Given the description of an element on the screen output the (x, y) to click on. 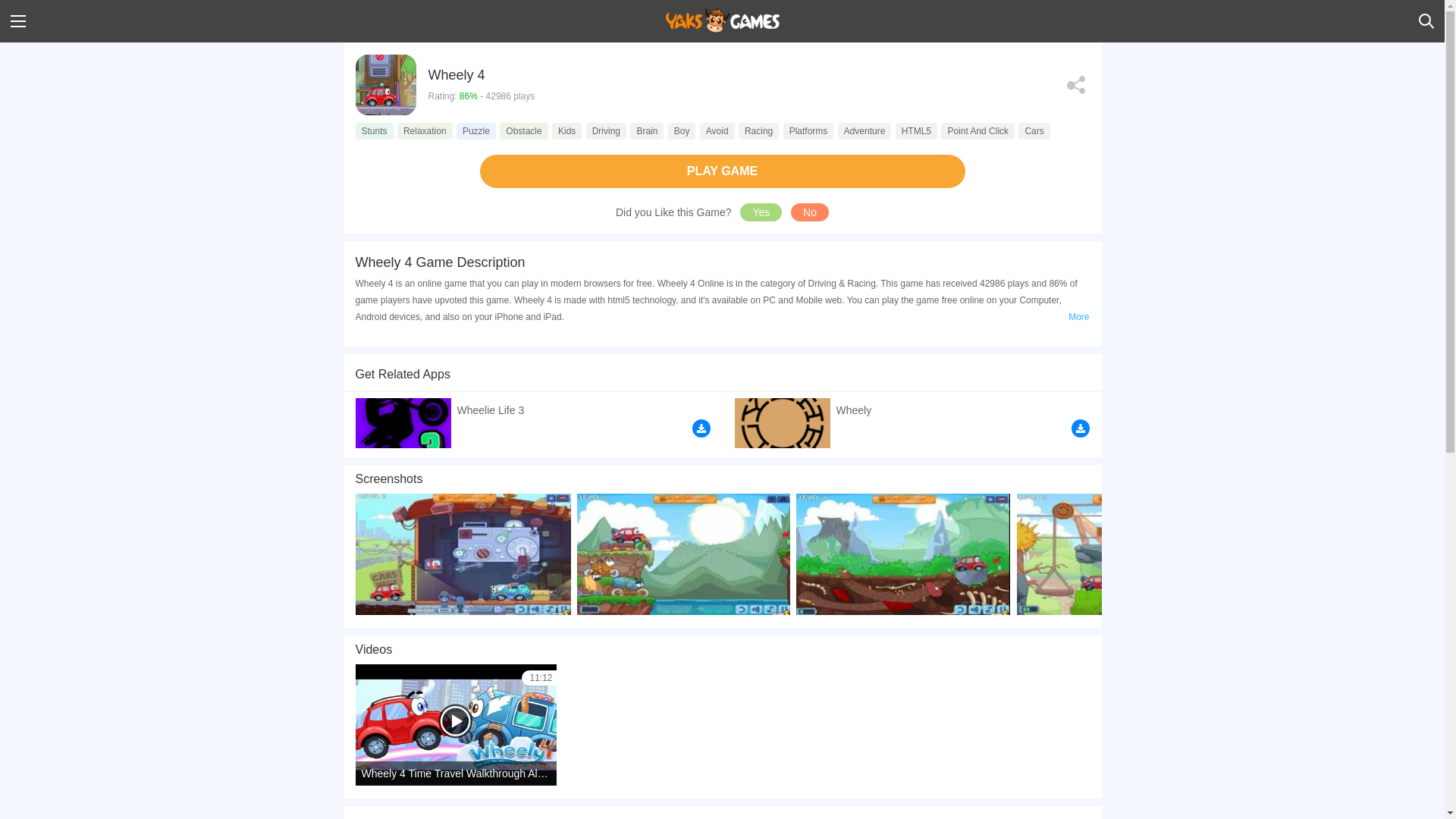
Driving (606, 130)
Kids online games (565, 130)
Relaxation online games (424, 130)
Boy (681, 130)
Wheely 4 Time Travel Walkthrough All Levels HD (455, 724)
Relaxation (424, 130)
Avoid online games (717, 130)
Kids (565, 130)
Avoid (717, 130)
Platforms online games (808, 130)
Racing online games (758, 130)
HTML5 online games (916, 130)
Adventure online games (864, 130)
Stunts online games (374, 130)
Stunts (374, 130)
